Given the description of an element on the screen output the (x, y) to click on. 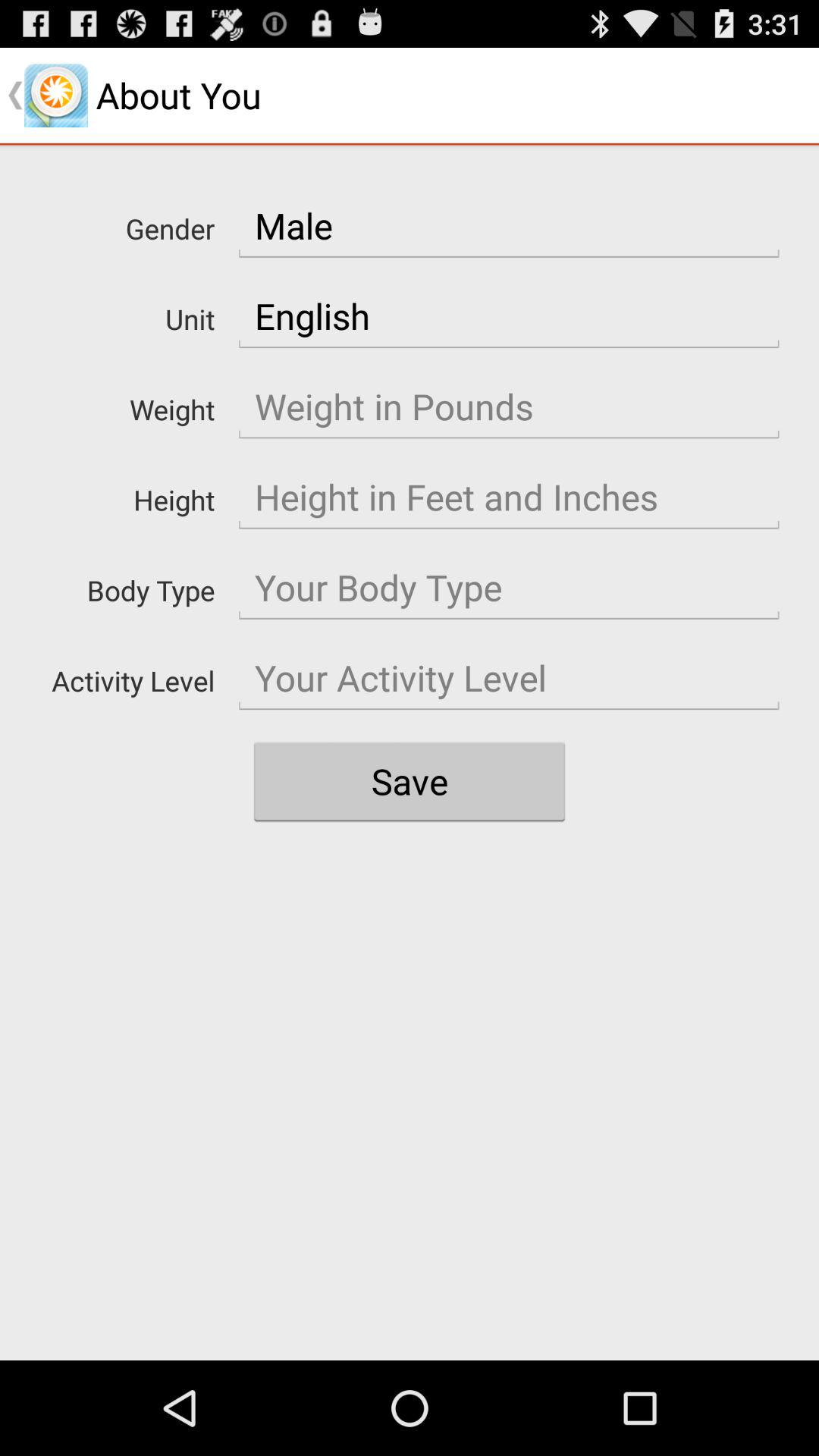
body type can be entered (508, 587)
